Given the description of an element on the screen output the (x, y) to click on. 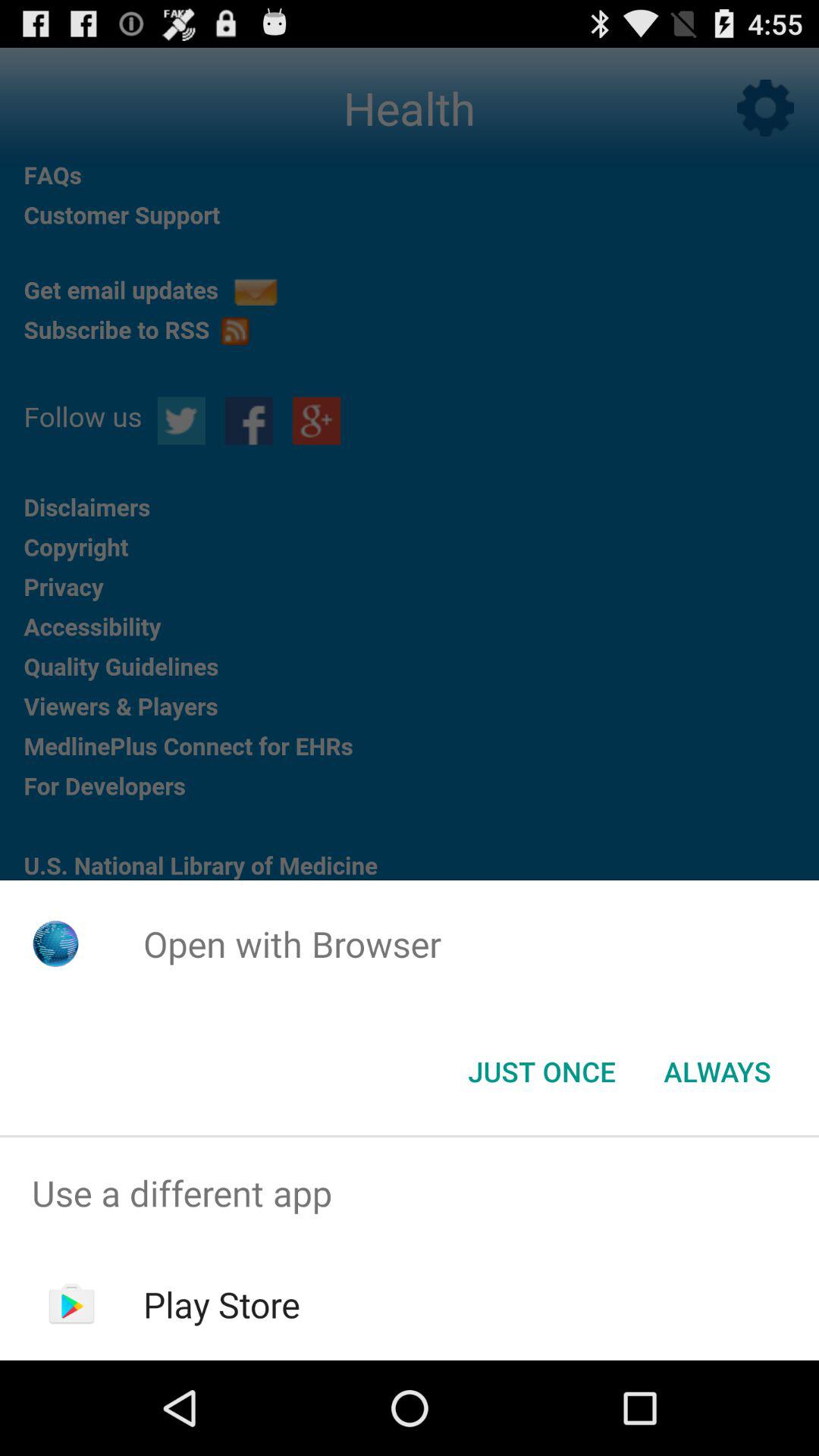
choose button next to the always item (541, 1071)
